Given the description of an element on the screen output the (x, y) to click on. 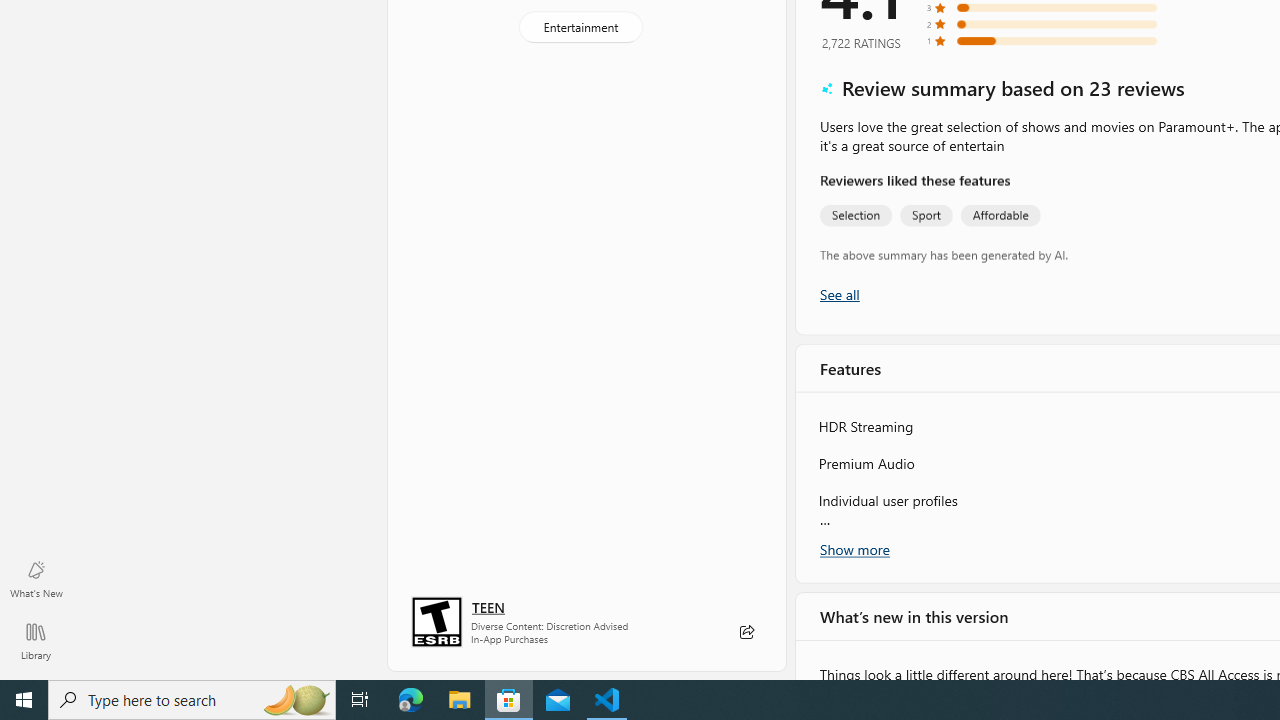
Show more (854, 549)
Share (746, 632)
Age rating: TEEN. Click for more information. (488, 606)
Show all ratings and reviews (838, 294)
